Given the description of an element on the screen output the (x, y) to click on. 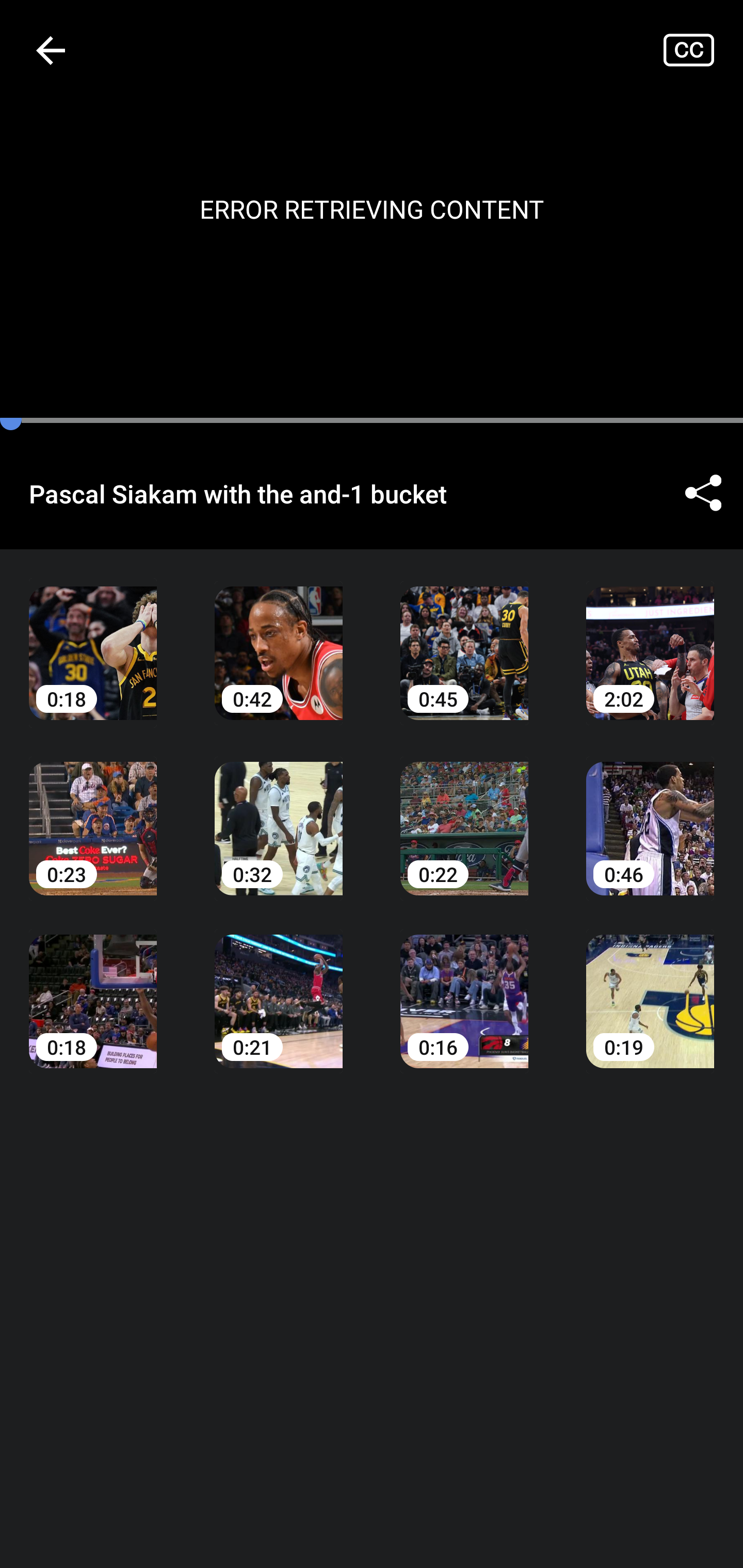
Navigate up (50, 50)
Closed captions  (703, 49)
Share © (703, 493)
0:18 (92, 637)
0:42 (278, 637)
0:45 (464, 637)
2:02 (650, 637)
0:23 (92, 813)
0:32 (278, 813)
0:22 (464, 813)
0:46 (650, 813)
0:18 (92, 987)
0:21 (278, 987)
0:16 (464, 987)
0:19 (650, 987)
